Given the description of an element on the screen output the (x, y) to click on. 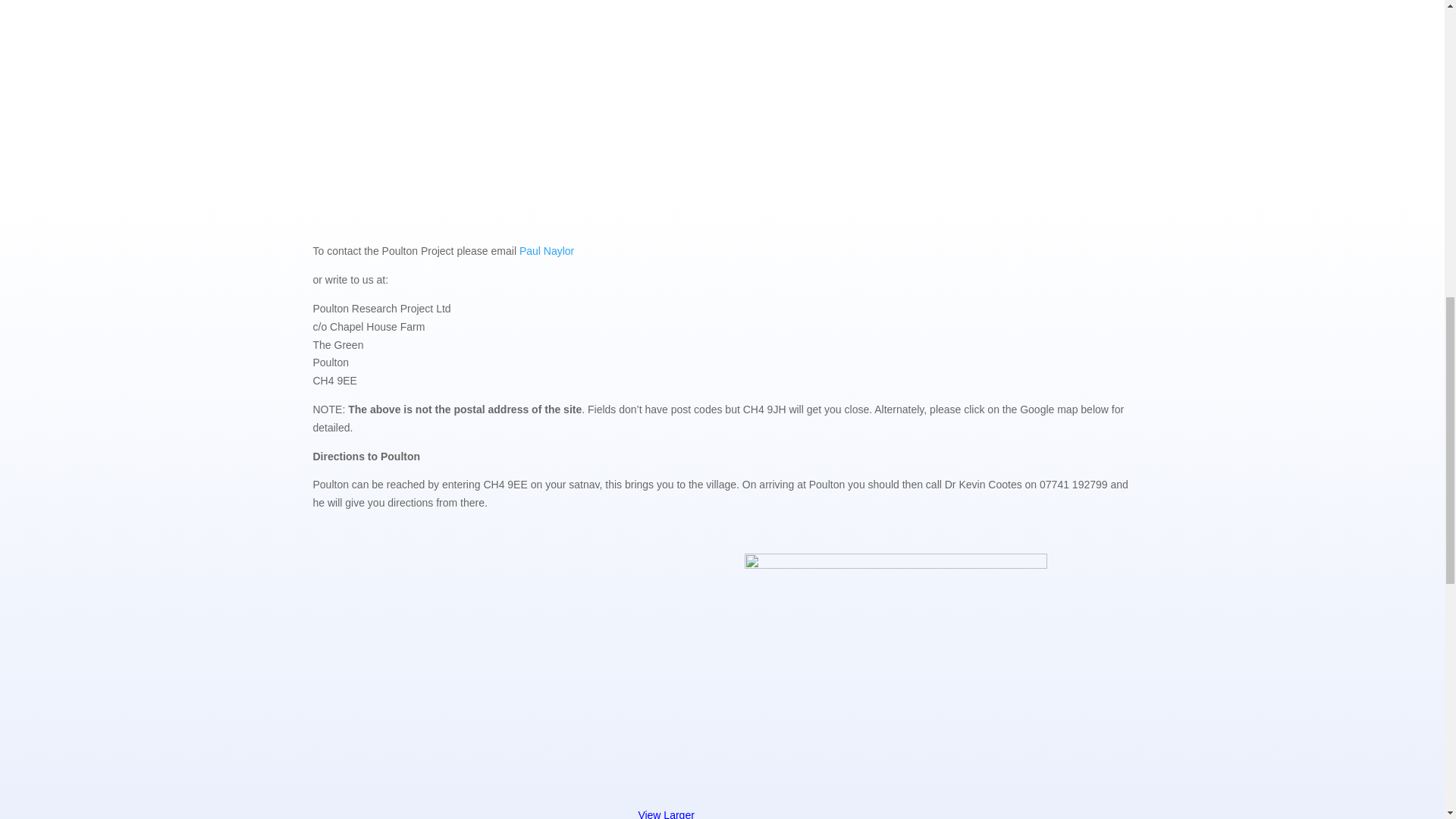
LastMile-th-1 (895, 672)
Paul Naylor (546, 250)
View Larger Map (503, 814)
